Given the description of an element on the screen output the (x, y) to click on. 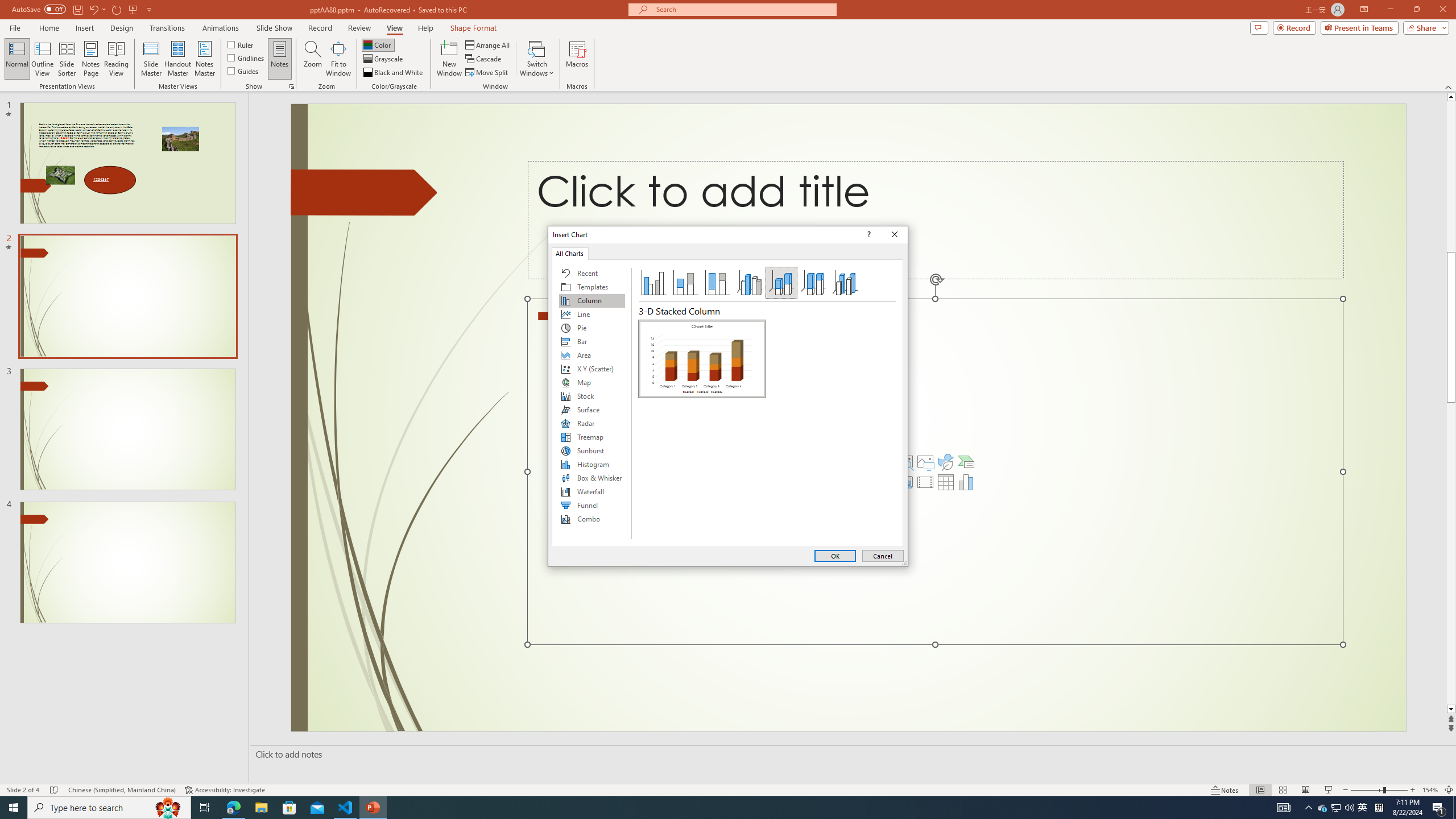
Arrange All (488, 44)
